Given the description of an element on the screen output the (x, y) to click on. 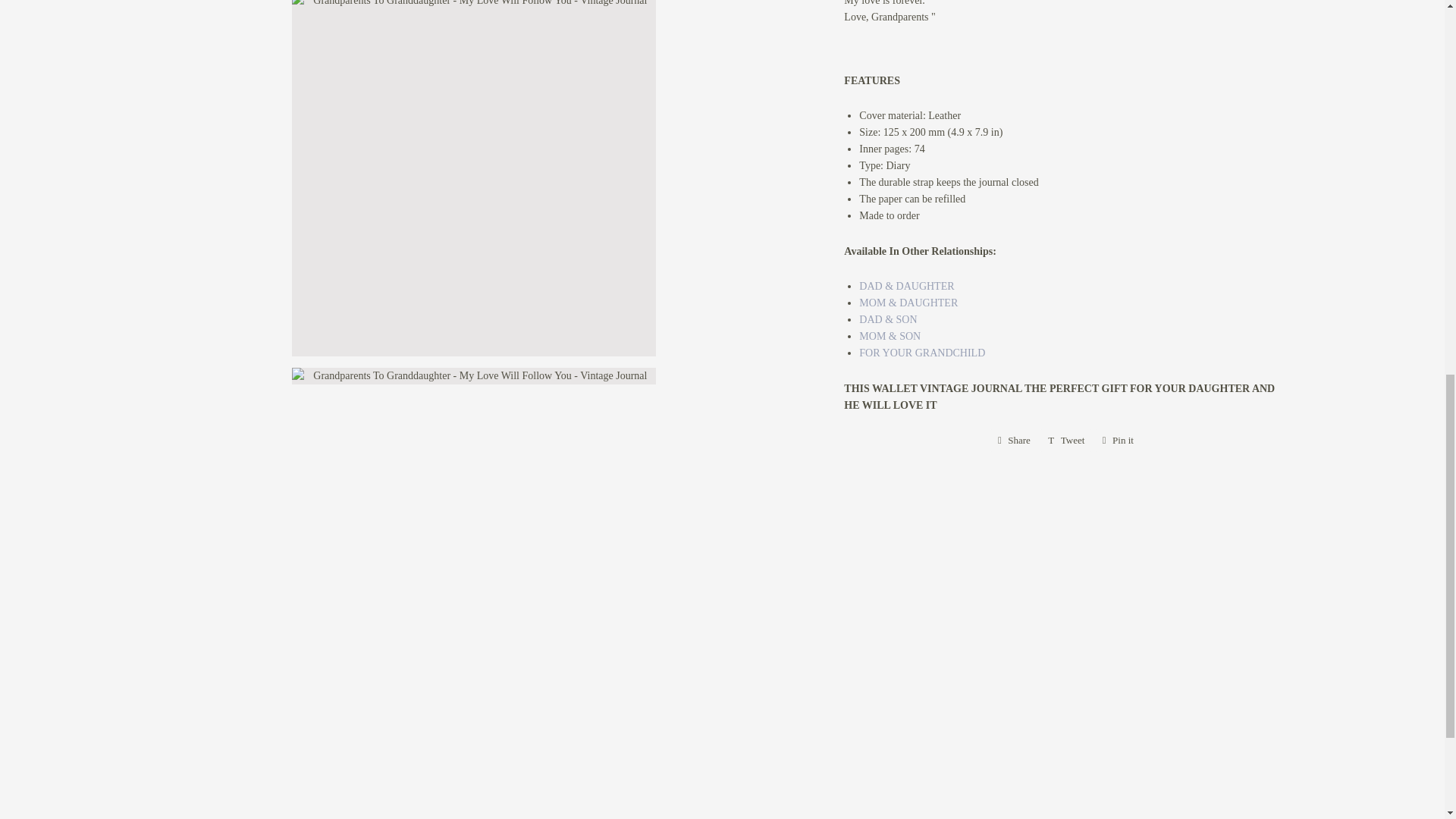
Tweet on Twitter (1066, 440)
FOR YOUR GRANDCHILDREN (922, 352)
Pin on Pinterest (1117, 440)
Share on Facebook (1014, 440)
